Given the description of an element on the screen output the (x, y) to click on. 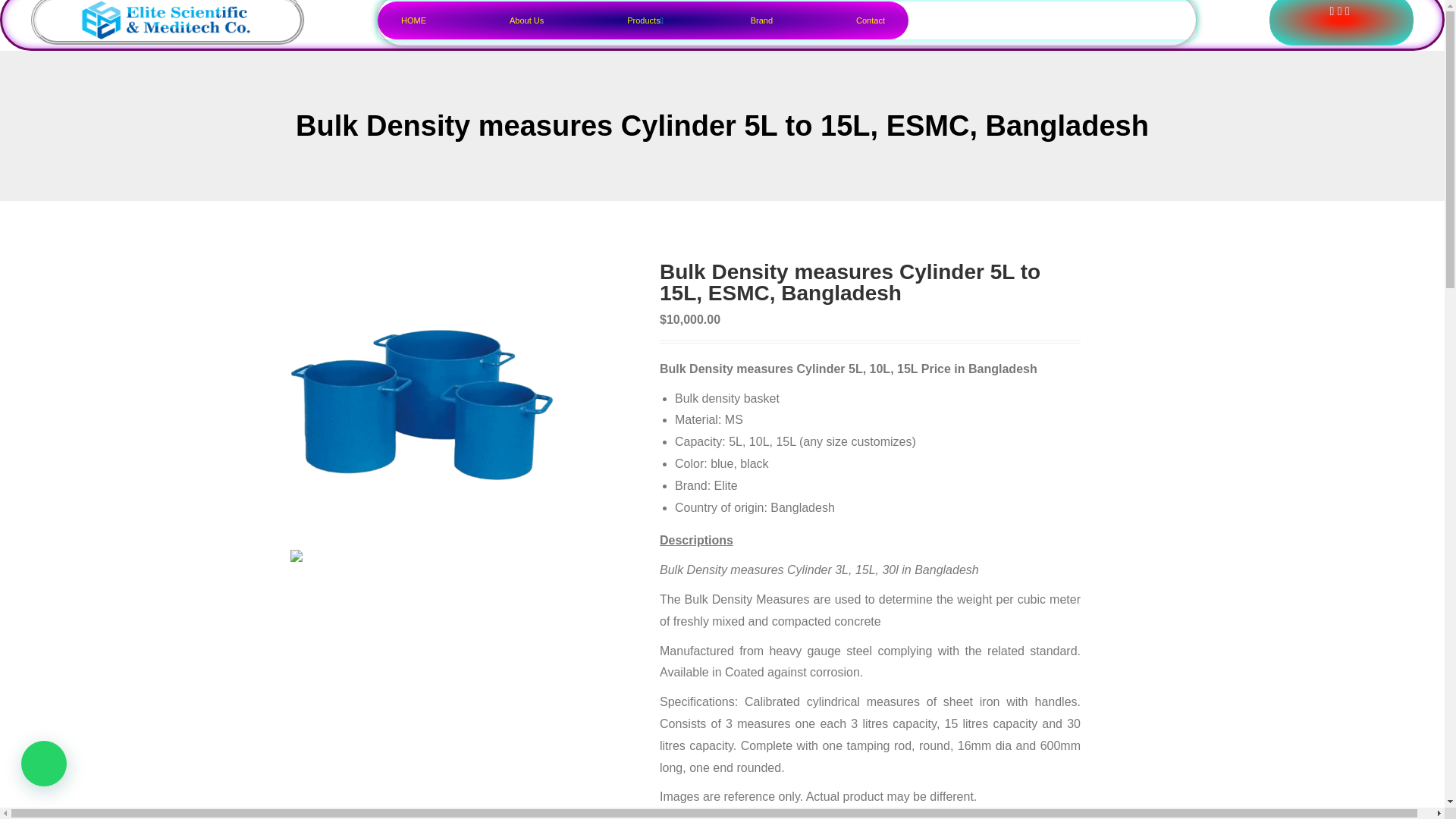
Descriptions (696, 540)
HOME (576, 12)
Brand (761, 23)
About Us (634, 13)
Products (704, 15)
Contact (870, 24)
